Given the description of an element on the screen output the (x, y) to click on. 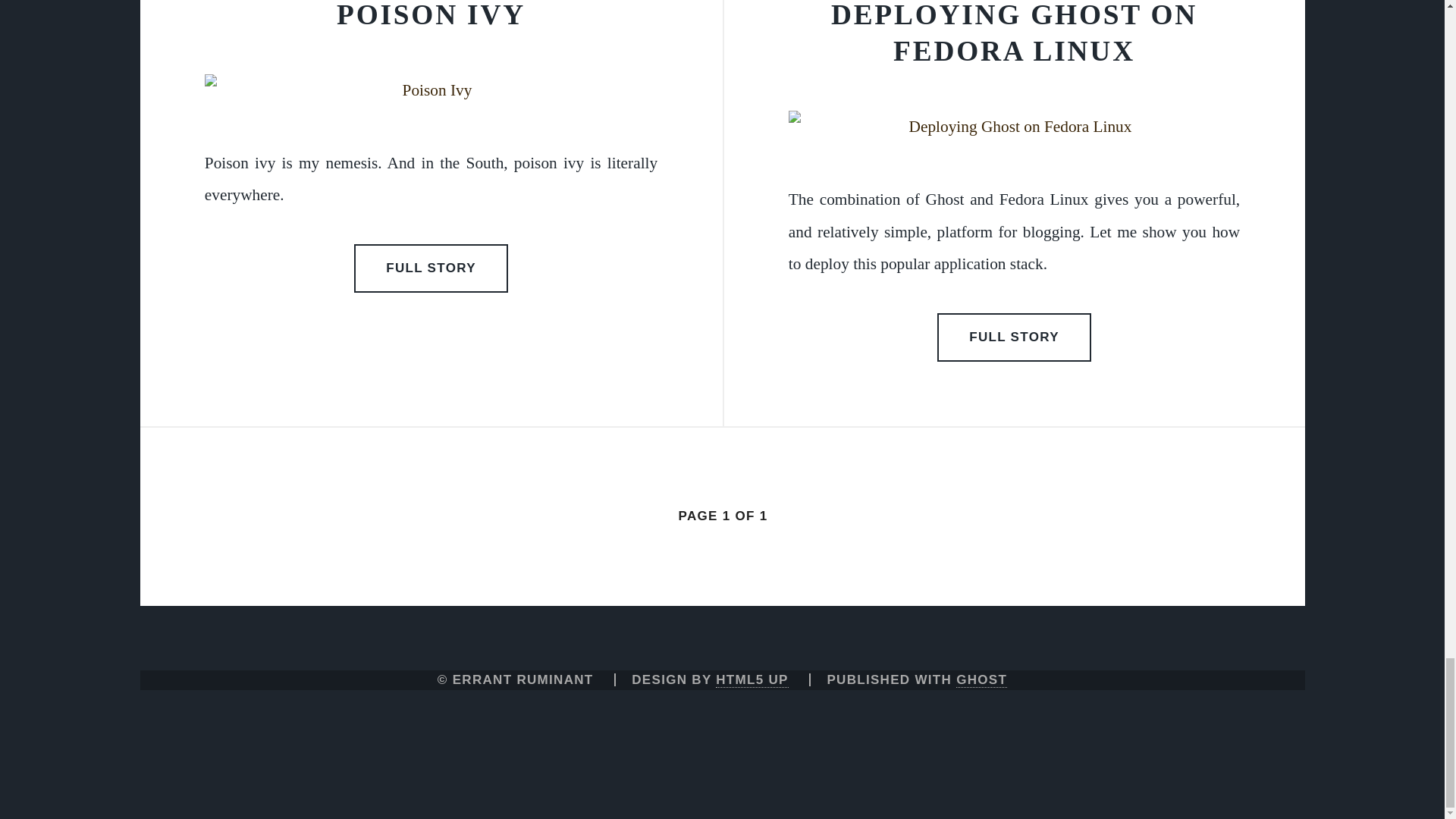
POISON IVY (430, 15)
HTML5 UP (751, 679)
FULL STORY (1014, 336)
FULL STORY (430, 268)
GHOST (981, 679)
DEPLOYING GHOST ON FEDORA LINUX (1013, 33)
